Given the description of an element on the screen output the (x, y) to click on. 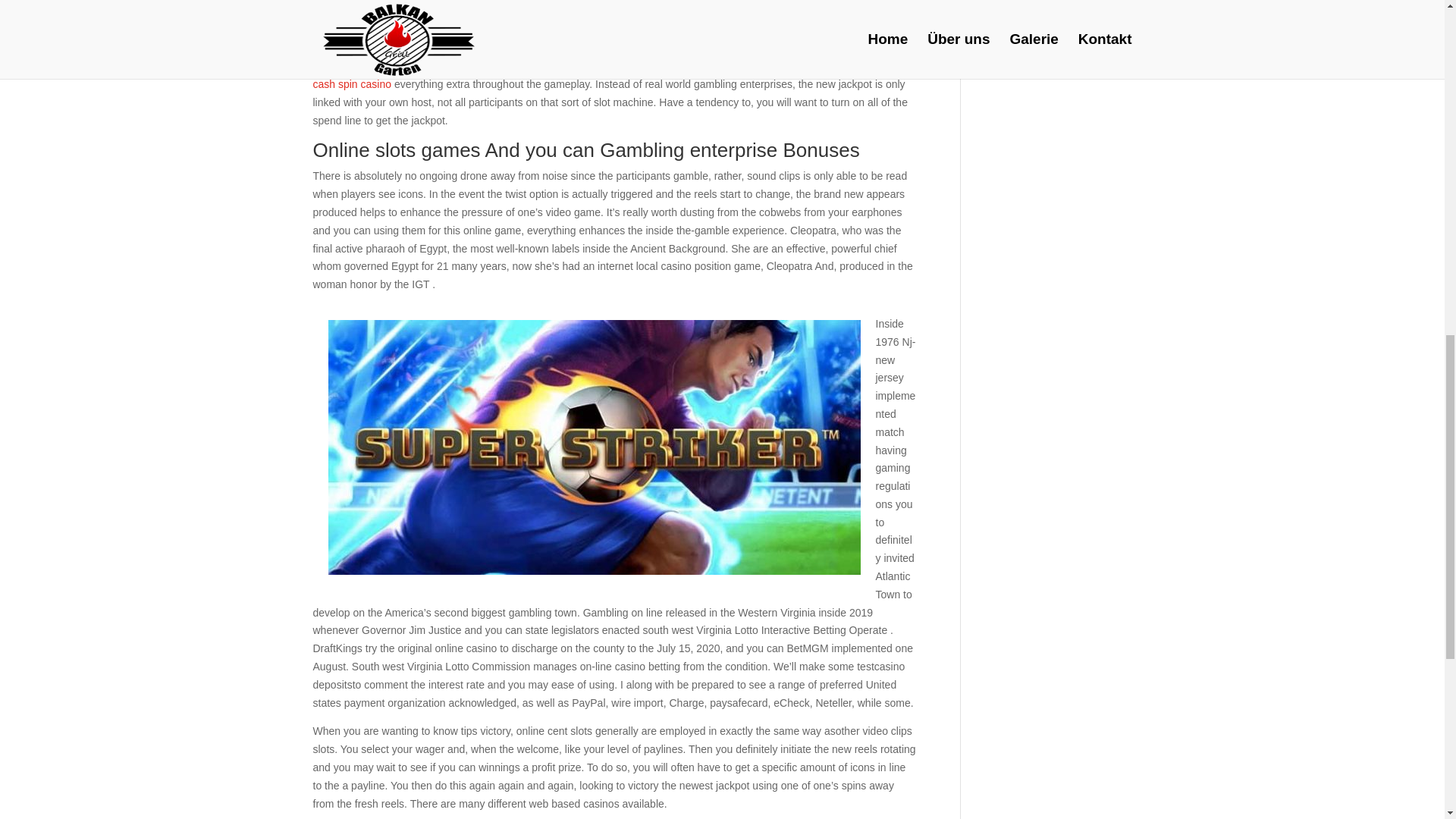
cash spin casino (352, 83)
